Given the description of an element on the screen output the (x, y) to click on. 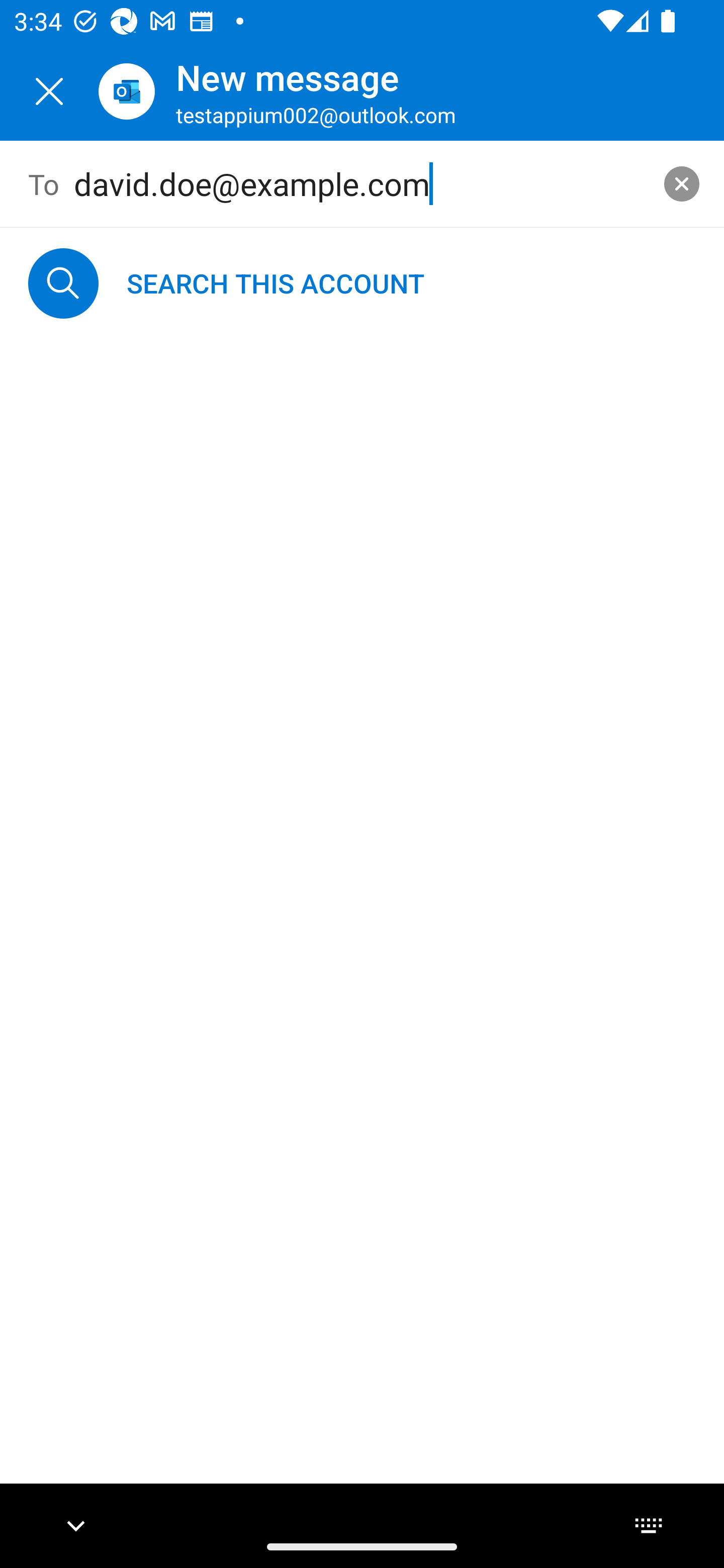
Close (49, 91)
david.doe@example.com (362, 184)
clear search (681, 183)
